Given the description of an element on the screen output the (x, y) to click on. 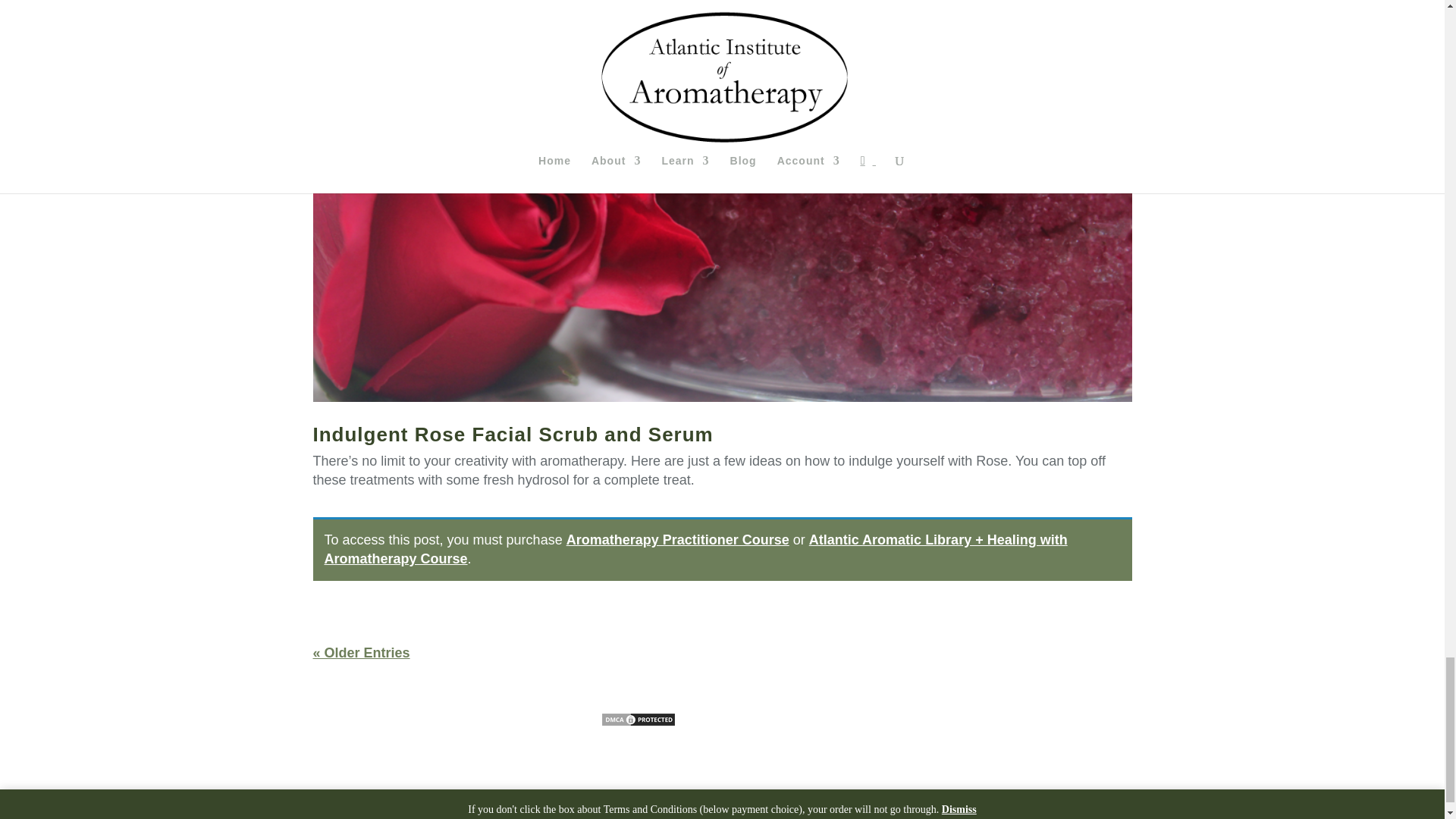
DMCA.com Protection Status (638, 721)
